Given the description of an element on the screen output the (x, y) to click on. 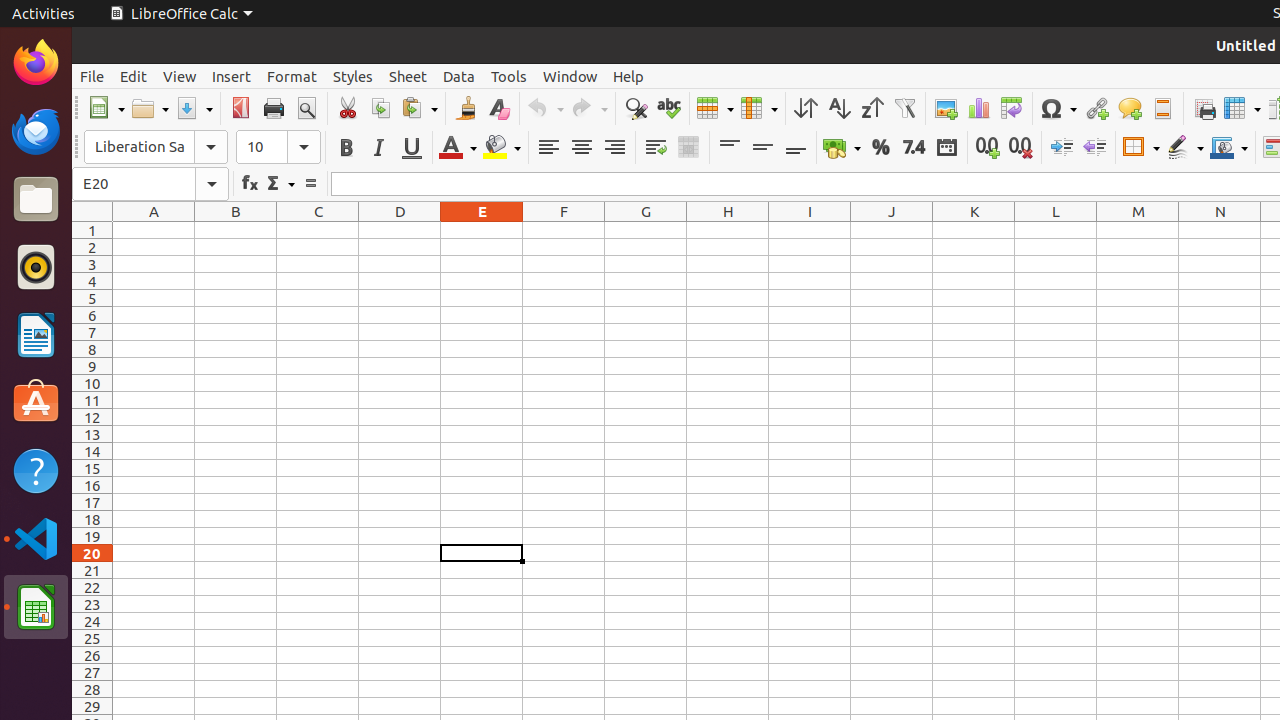
C1 Element type: table-cell (318, 230)
Column Element type: push-button (759, 108)
Increase Element type: push-button (1061, 147)
Save Element type: push-button (194, 108)
G1 Element type: table-cell (646, 230)
